Given the description of an element on the screen output the (x, y) to click on. 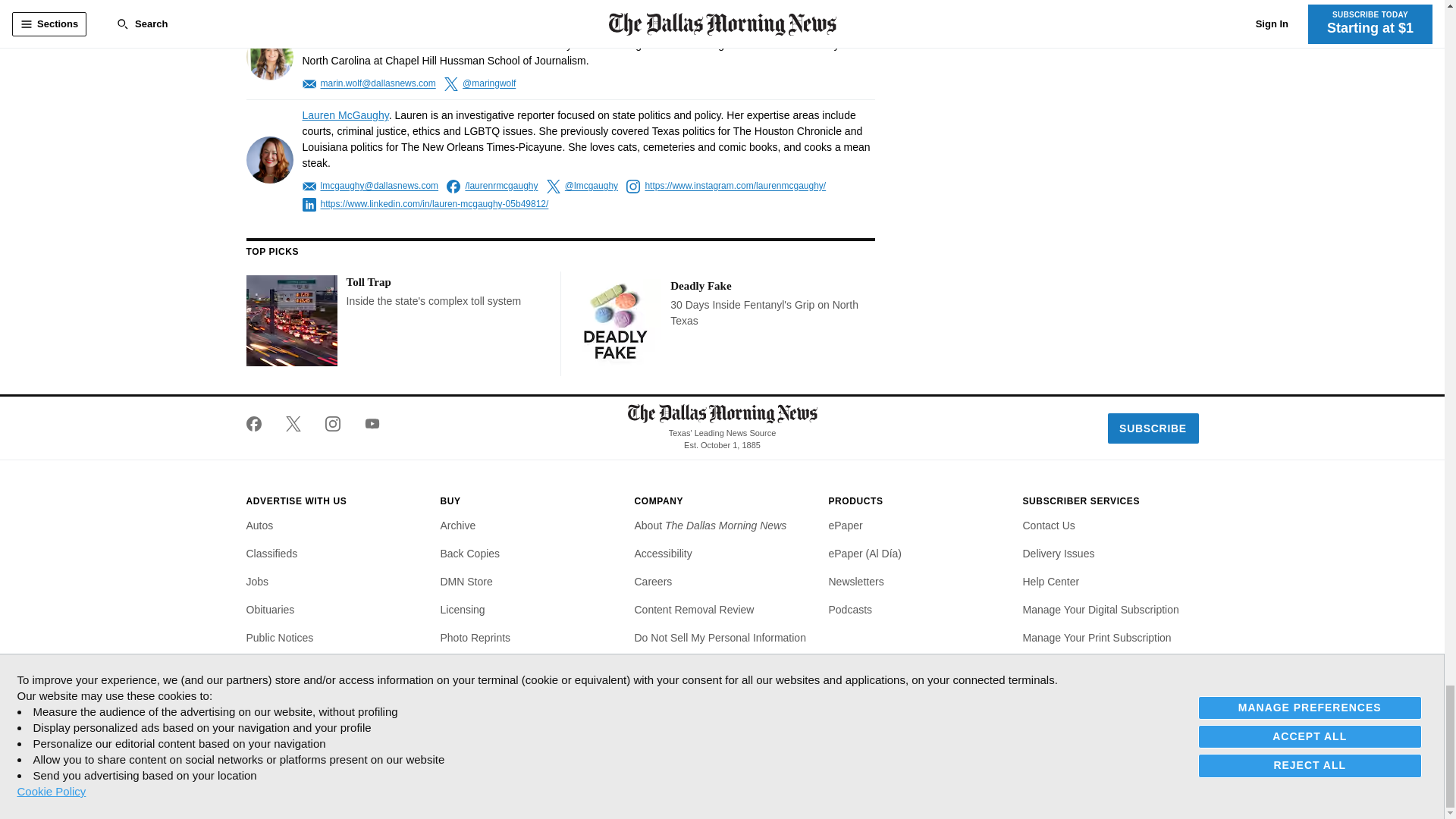
The Dallas Morning News on YouTube (365, 423)
The Dallas Morning News on Facebook (259, 423)
The Dallas Morning News on Twitter (293, 423)
The Dallas Morning News on Instagram (332, 423)
